Given the description of an element on the screen output the (x, y) to click on. 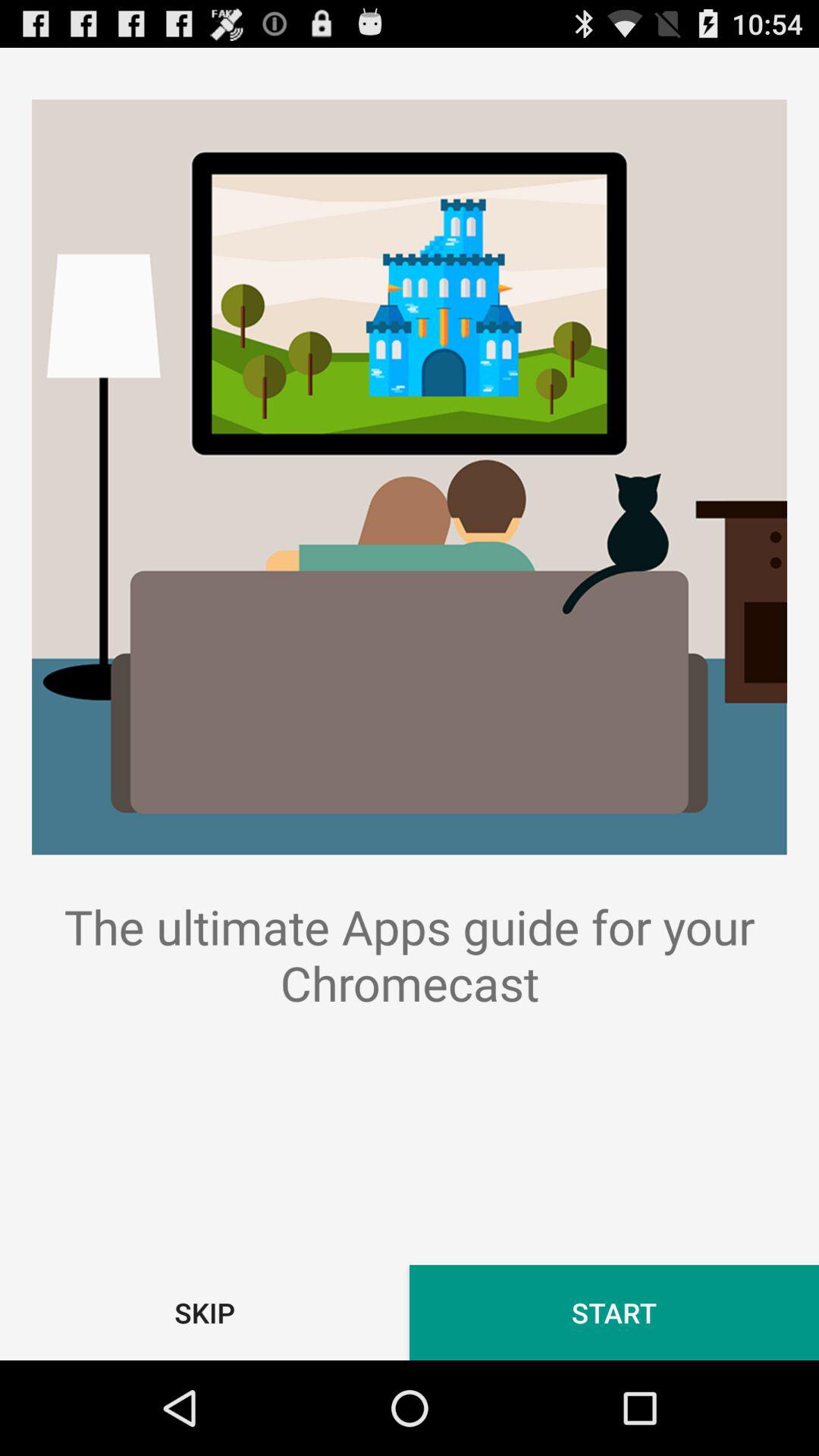
open skip icon (204, 1312)
